Given the description of an element on the screen output the (x, y) to click on. 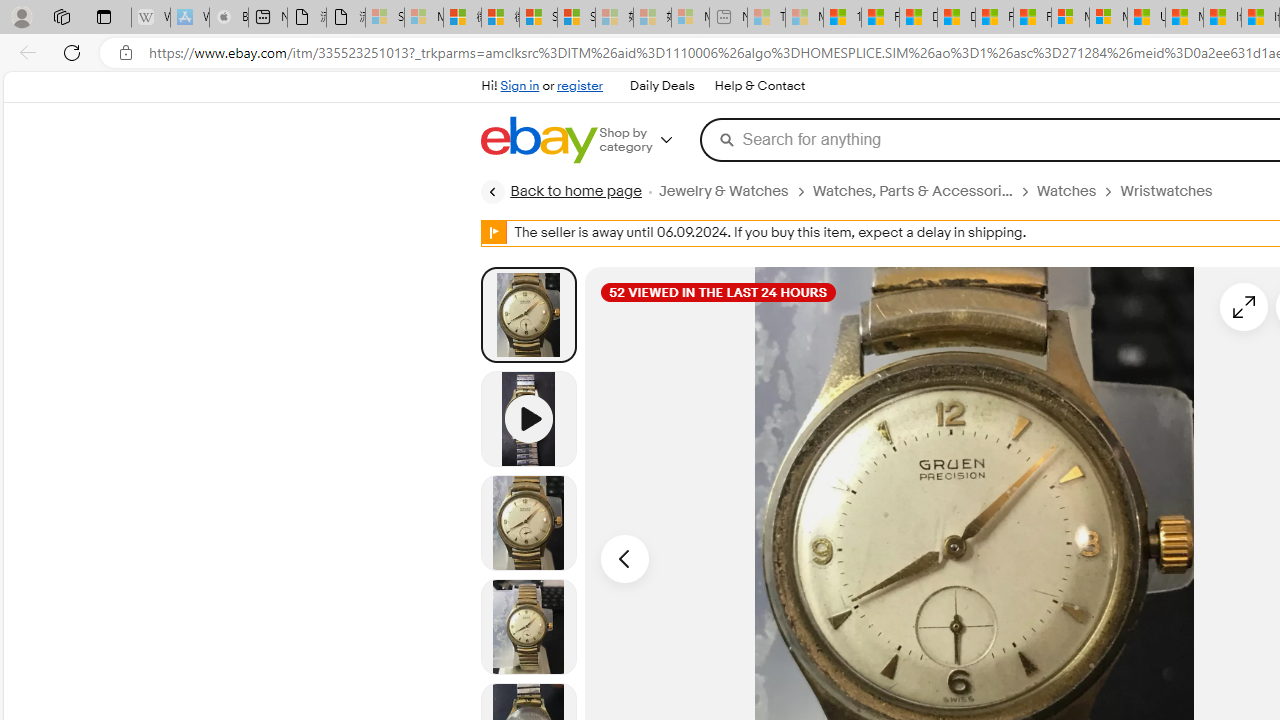
Previous image - Item images thumbnails (624, 558)
Help & Contact (758, 85)
Buy iPad - Apple - Sleeping (228, 17)
Daily Deals (662, 86)
Wristwatches (1174, 191)
Picture 2 of 13 (528, 521)
